Given the description of an element on the screen output the (x, y) to click on. 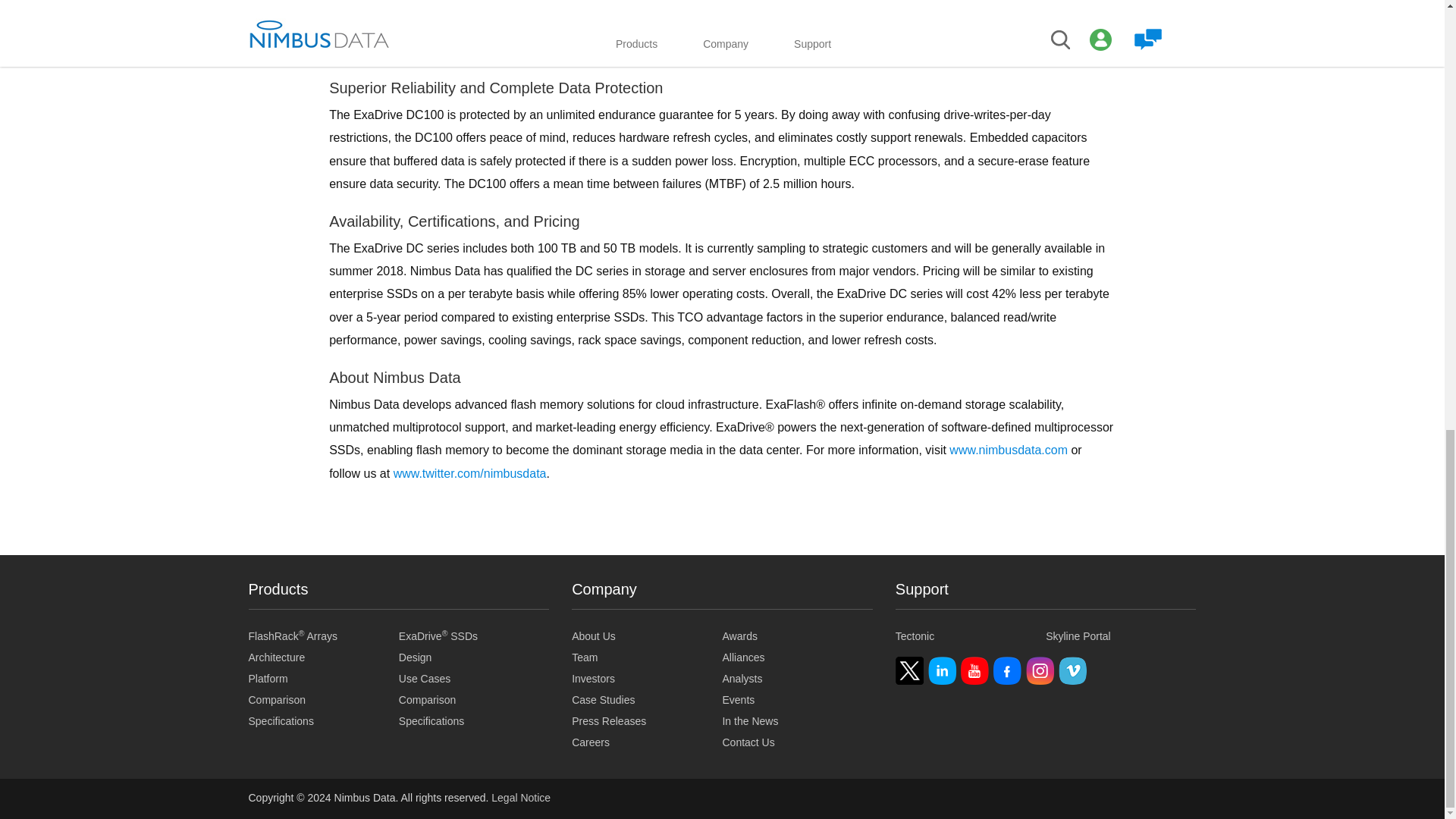
Specifications (323, 721)
Design (473, 657)
Architecture (323, 657)
Platform (323, 678)
Comparison (323, 700)
www.nimbusdata.com (1008, 449)
